Given the description of an element on the screen output the (x, y) to click on. 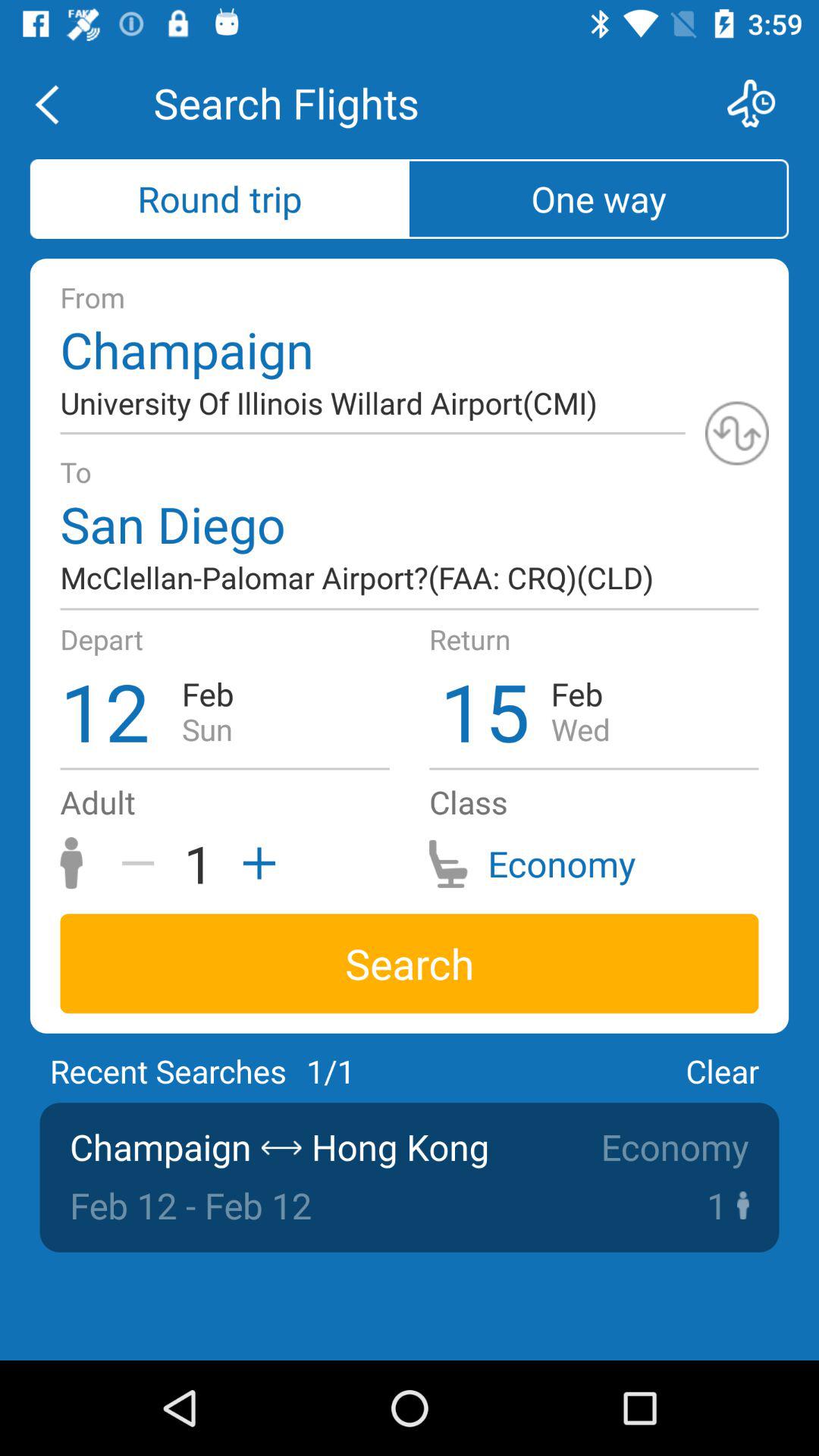
flip until the one way (598, 198)
